Given the description of an element on the screen output the (x, y) to click on. 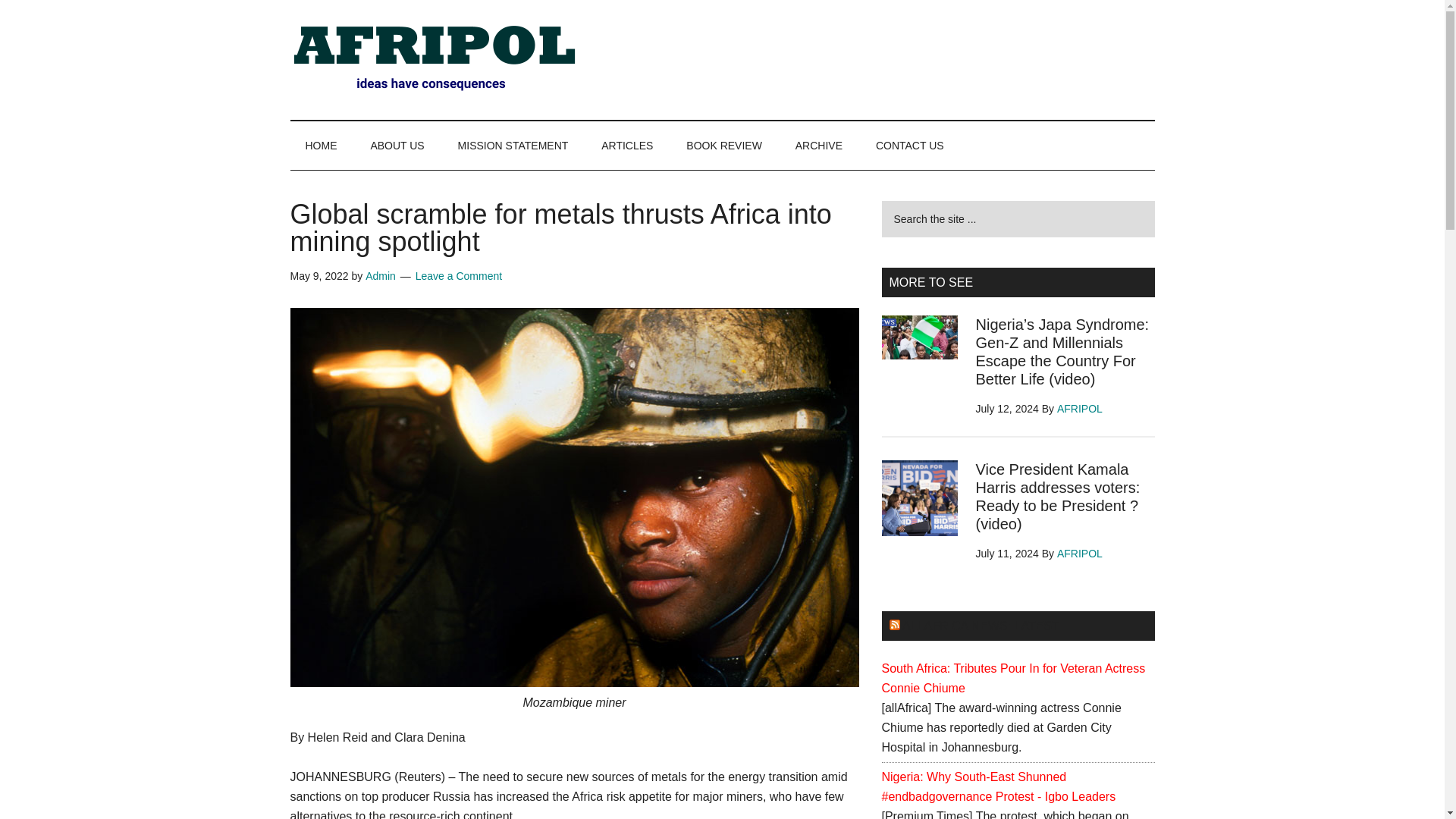
AFRIPOL (1079, 408)
ABOUT US (397, 145)
Admin (380, 275)
ARTICLES (627, 145)
BOOK REVIEW (724, 145)
Leave a Comment (458, 275)
ARCHIVE (818, 145)
MISSION STATEMENT (512, 145)
ALLAFRICA NEWS: LATEST (980, 625)
CONTACT US (909, 145)
